Given the description of an element on the screen output the (x, y) to click on. 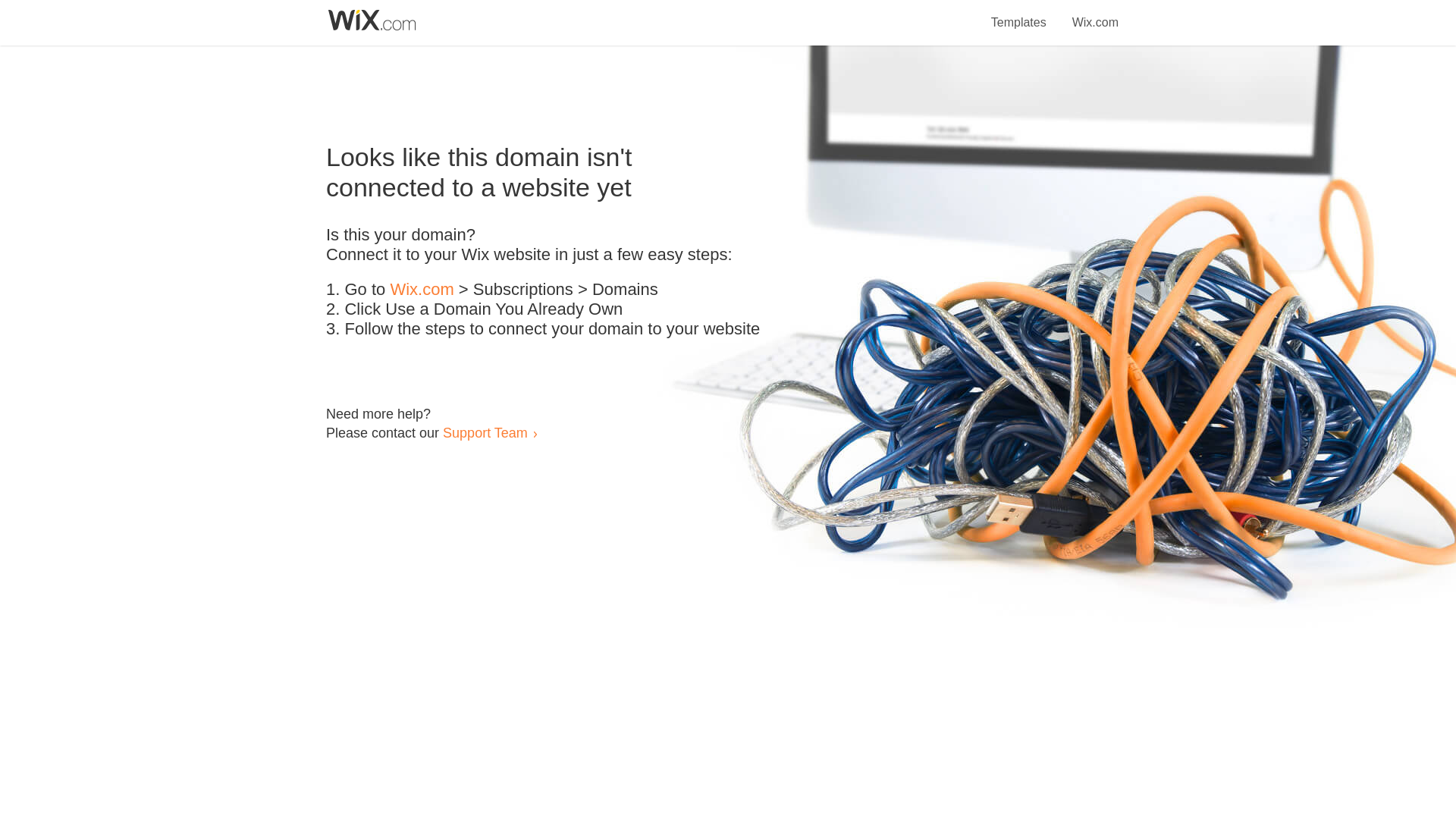
Templates (1018, 14)
Wix.com (421, 289)
Wix.com (1095, 14)
Support Team (484, 432)
